Given the description of an element on the screen output the (x, y) to click on. 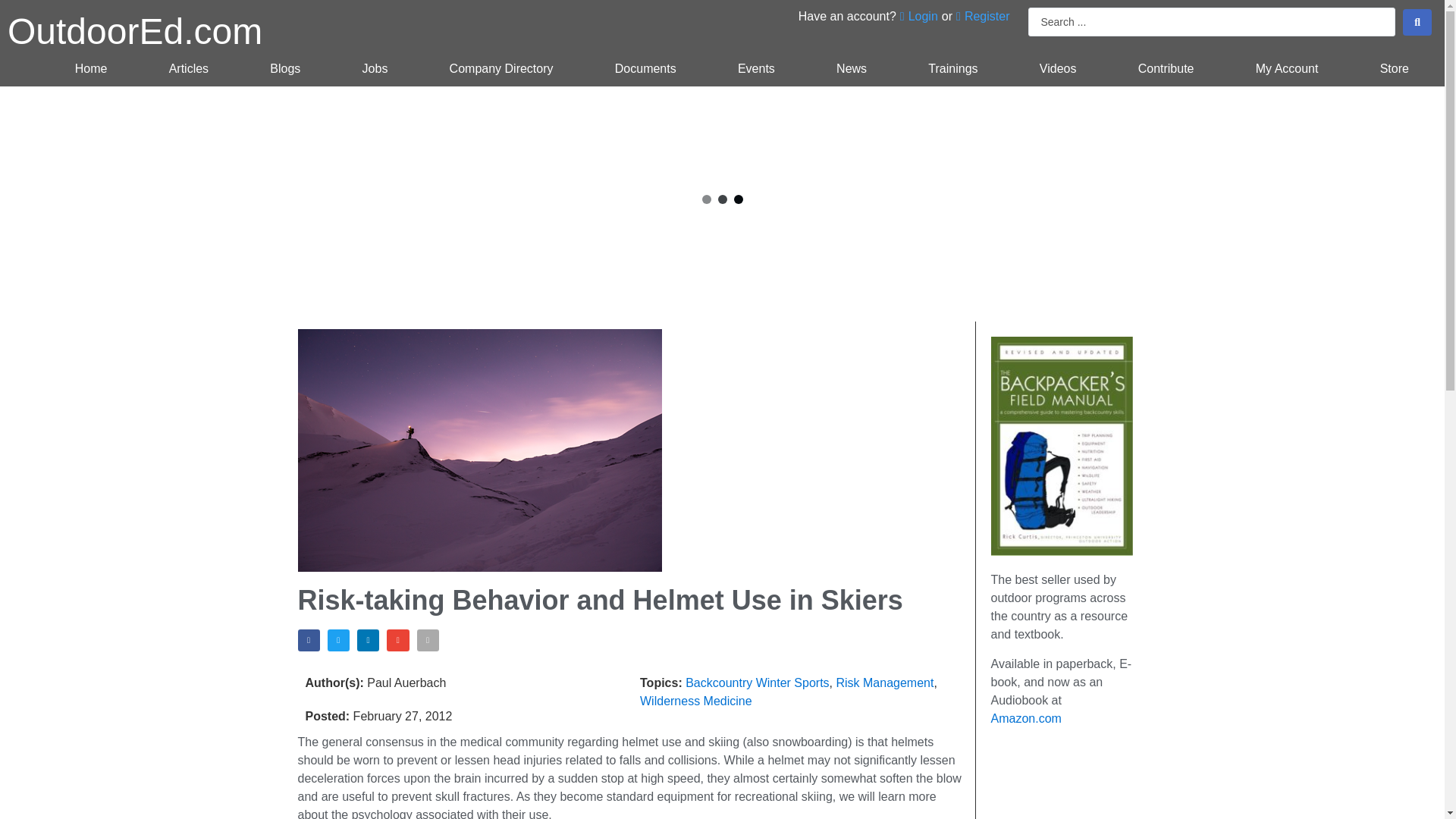
Jobs (375, 68)
Blogs (285, 68)
My Account (1286, 68)
Articles (189, 68)
Documents (644, 68)
Documents (644, 68)
Videos (1057, 68)
Store (1394, 68)
News (850, 68)
Blogs (285, 68)
Events (755, 68)
News (850, 68)
Jobs (375, 68)
Register (982, 16)
OutdoorEd.com (134, 31)
